Given the description of an element on the screen output the (x, y) to click on. 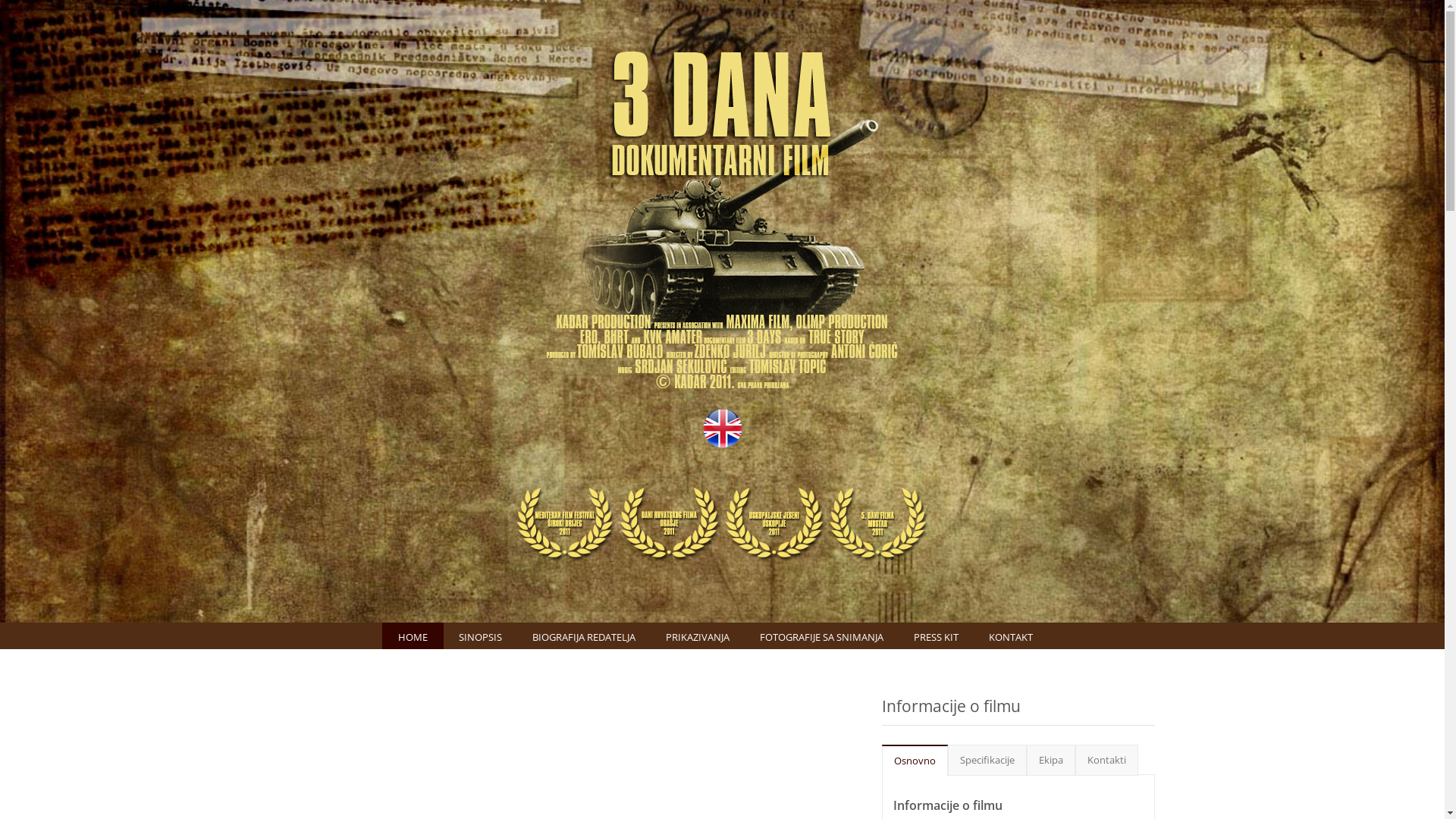
Specifikacije Element type: text (986, 759)
PRESS KIT Element type: text (935, 635)
HOME Element type: text (412, 635)
Kontakti Element type: text (1106, 759)
BIOGRAFIJA REDATELJA Element type: text (583, 635)
PRIKAZIVANJA Element type: text (697, 635)
KONTAKT Element type: text (1010, 635)
Ekipa Element type: text (1050, 759)
Osnovno Element type: text (914, 760)
FOTOGRAFIJE SA SNIMANJA Element type: text (821, 635)
SINOPSIS Element type: text (480, 635)
